Given the description of an element on the screen output the (x, y) to click on. 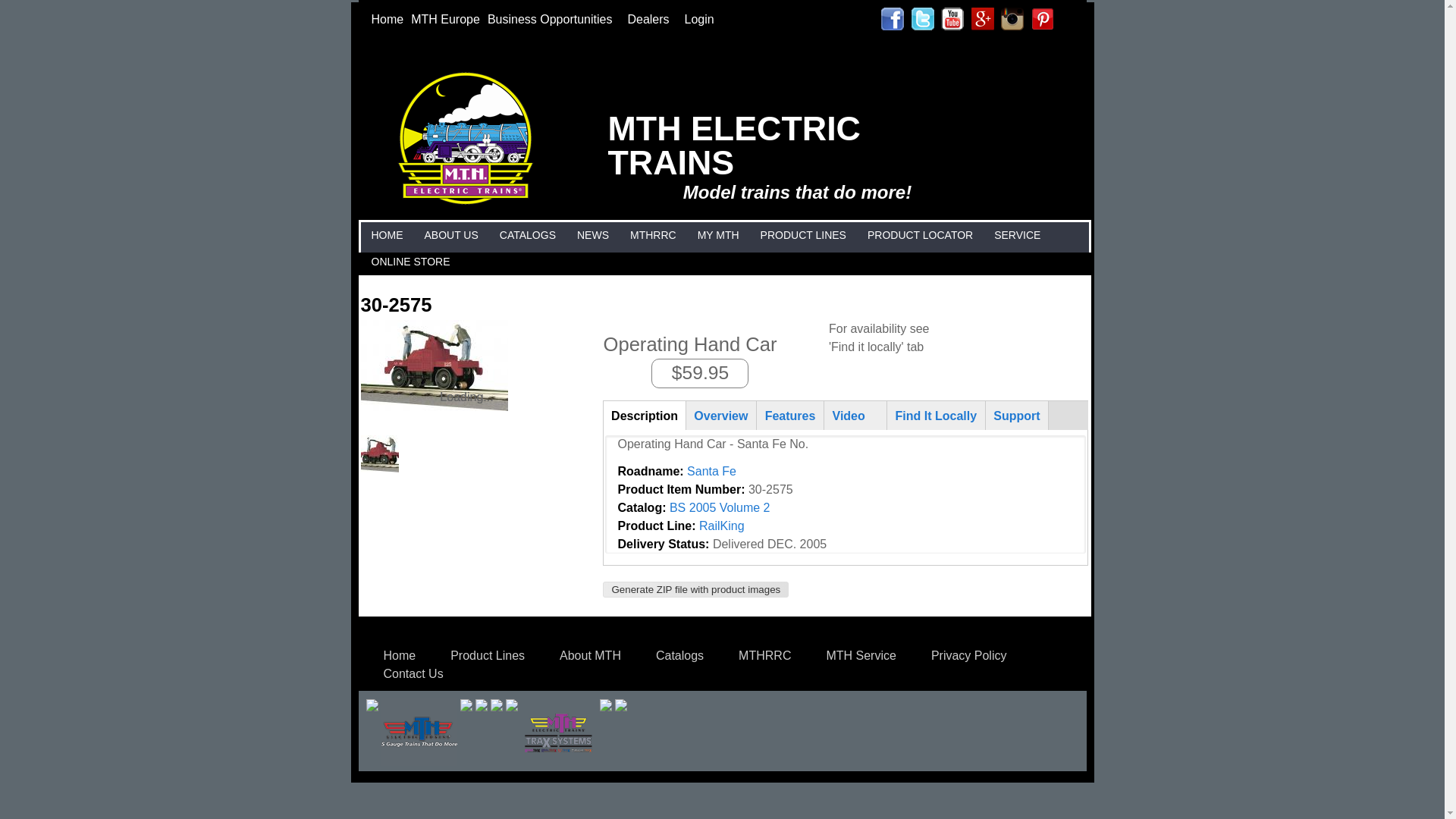
MTH ELECTRIC TRAINS (472, 80)
MY MTH (718, 233)
ABOUT US (451, 233)
PRODUCT LINES (803, 233)
HOME (386, 233)
SERVICE (1016, 233)
MTH Europe (445, 19)
Generate ZIP file with product images (695, 586)
ONLINE STORE (409, 259)
Home page (747, 144)
Dealers (651, 19)
Home (386, 19)
PRODUCT LOCATOR (919, 233)
MTH ELECTRIC TRAINS (747, 144)
NEWS (593, 233)
